Given the description of an element on the screen output the (x, y) to click on. 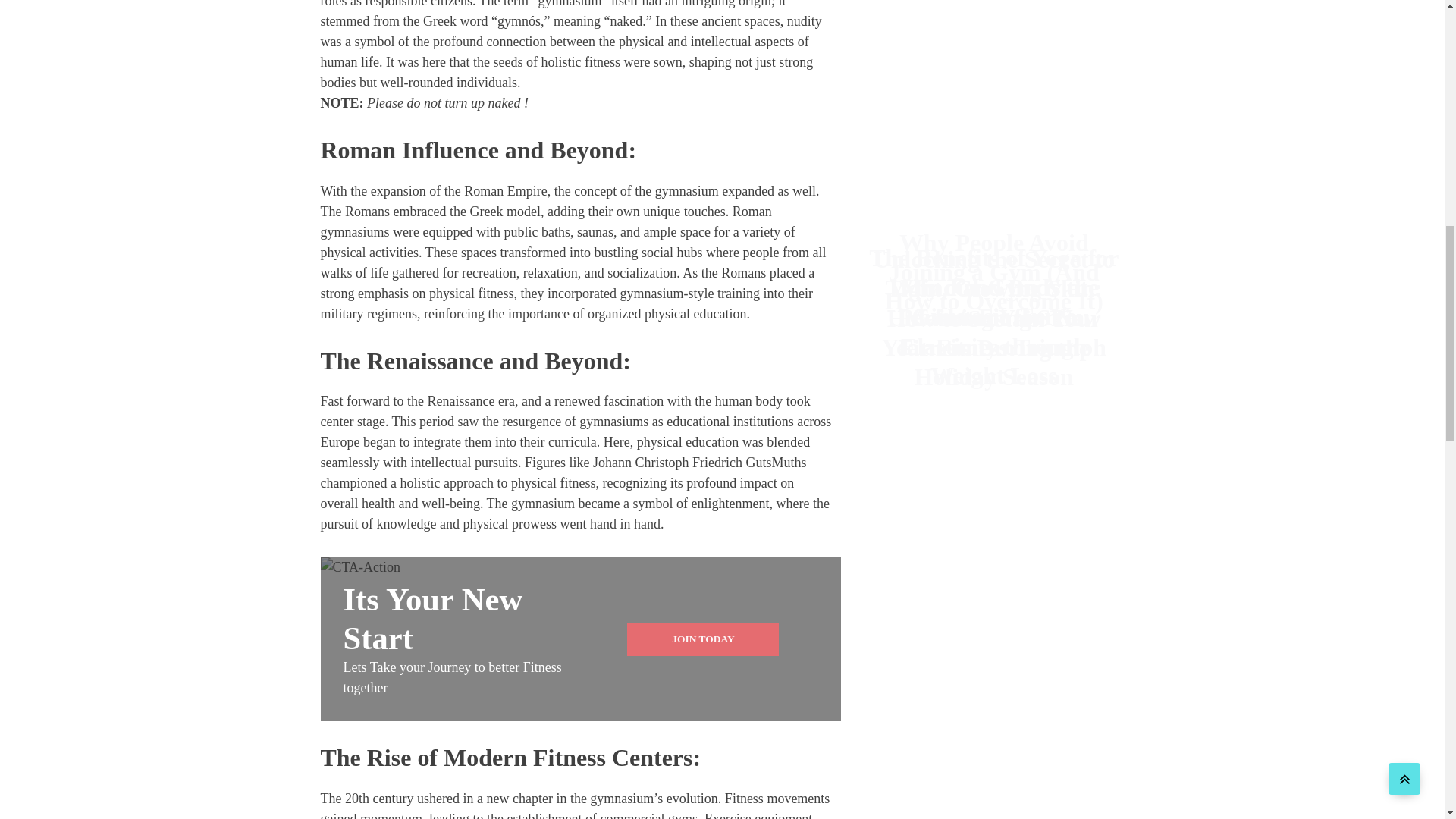
Unlocking Your New Year Fitness Triumph (993, 153)
How to Sustain Your Fitness During the Holiday Season (993, 169)
Why our Gym is the Perfect Fit for You (994, 123)
The Benefits of Yoga for Mind and Body at Gimnasio Turre (993, 108)
JOIN TODAY (702, 639)
